Given the description of an element on the screen output the (x, y) to click on. 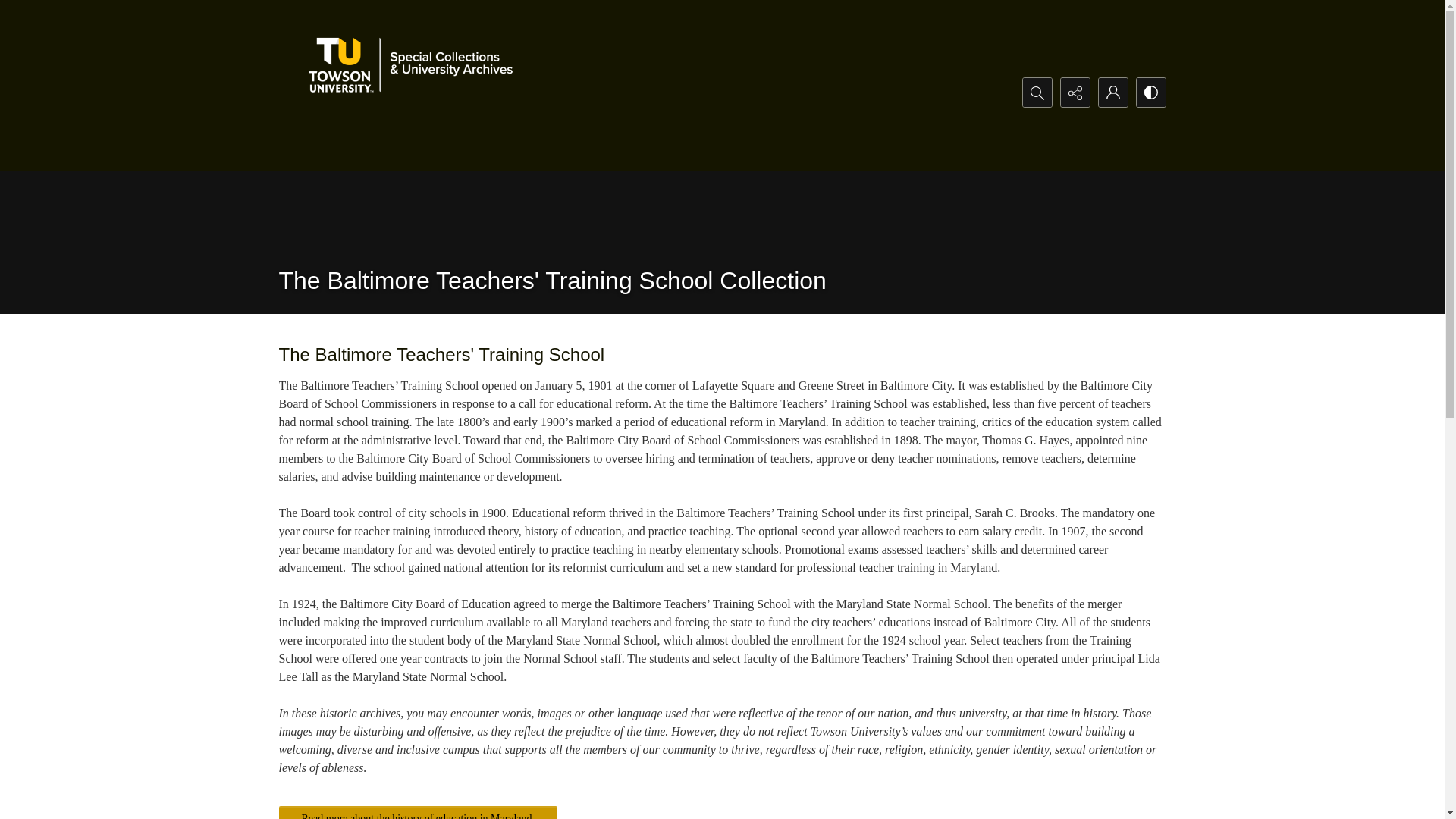
My Account (1111, 92)
Switch between contrast modes (1149, 92)
Reveal share options (1074, 92)
Open search input (1036, 92)
